Given the description of an element on the screen output the (x, y) to click on. 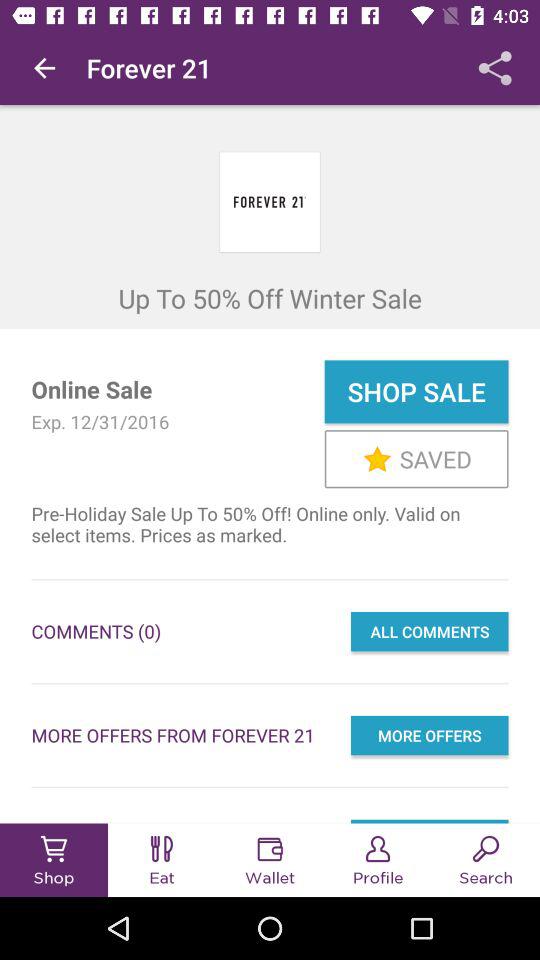
turn off icon above up to 50 (44, 68)
